Given the description of an element on the screen output the (x, y) to click on. 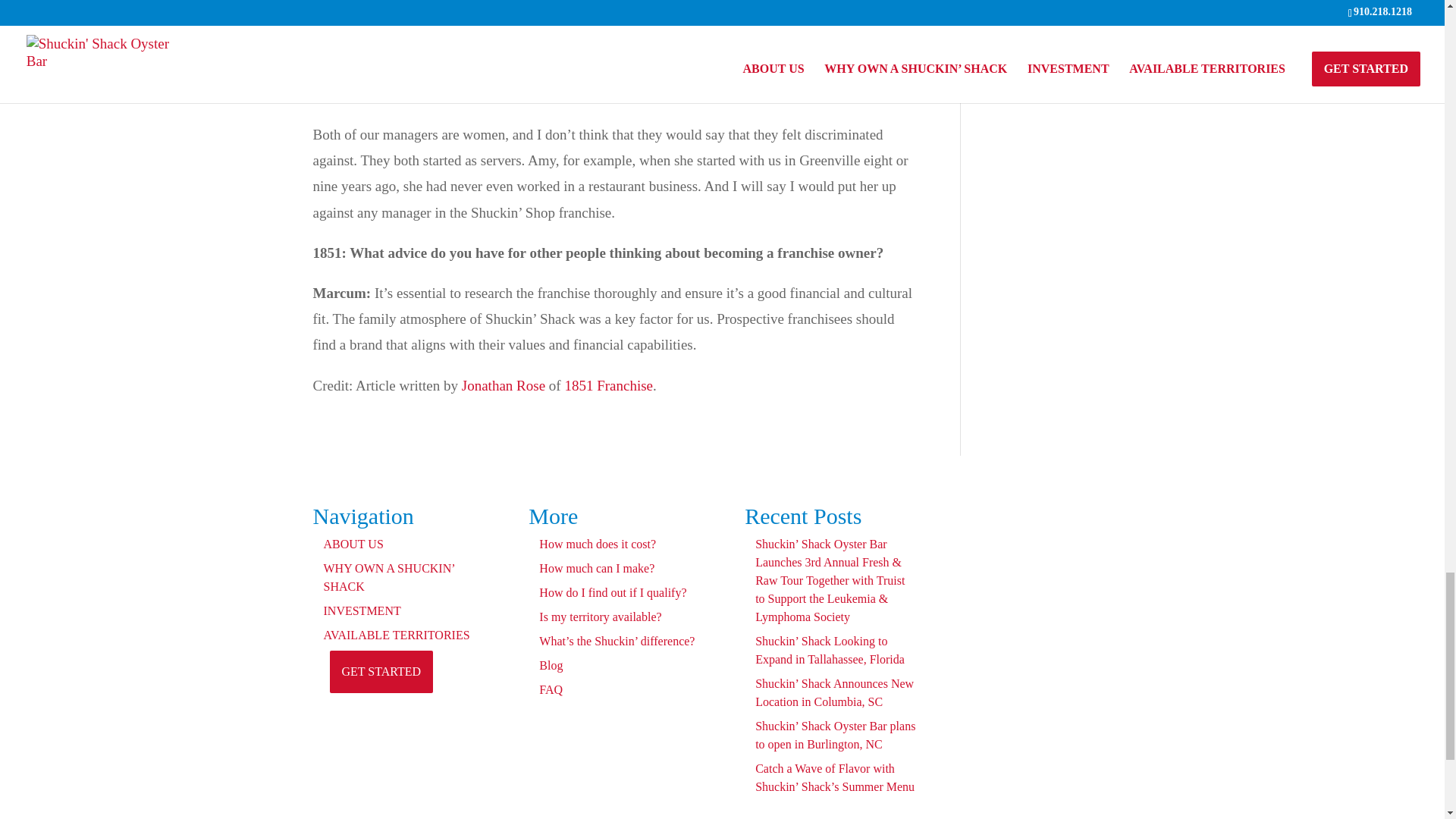
Is my territory available? (599, 616)
ABOUT US (352, 543)
AVAILABLE TERRITORIES (395, 634)
How much does it cost? (597, 543)
How much can I make? (595, 567)
Blog (550, 665)
Jonathan Rose (502, 385)
How do I find out if I qualify? (611, 592)
INVESTMENT (361, 610)
FAQ (550, 689)
